Given the description of an element on the screen output the (x, y) to click on. 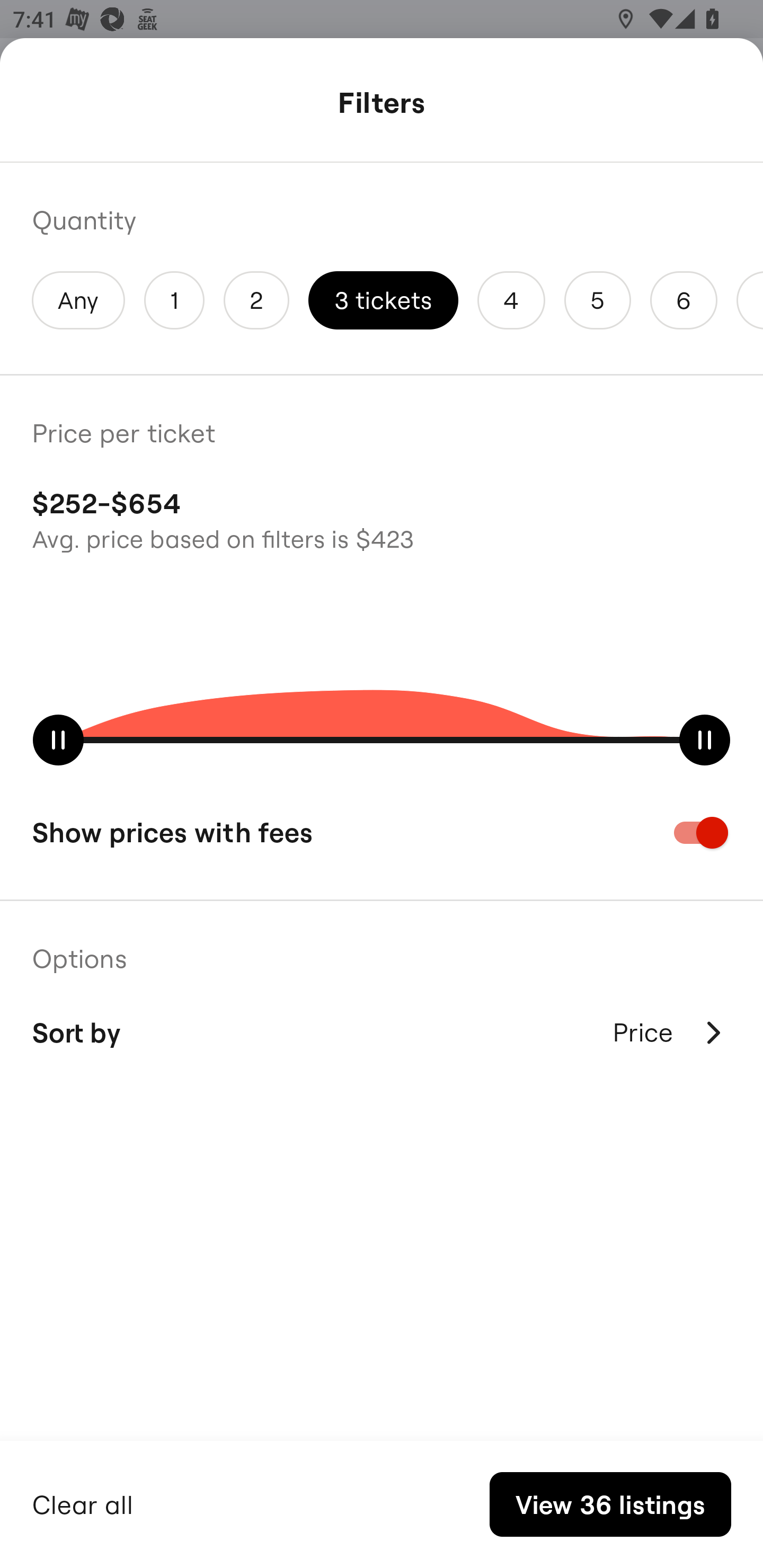
Any (78, 300)
1 (173, 300)
2 (256, 300)
3 tickets (383, 300)
4 (511, 300)
5 (597, 300)
6 (684, 300)
$252-$654 Avg. price based on filters is $423 (381, 518)
Show prices with fees (381, 832)
Sort by Price (381, 1032)
Clear all (83, 1502)
View 36 listings (609, 1504)
